Given the description of an element on the screen output the (x, y) to click on. 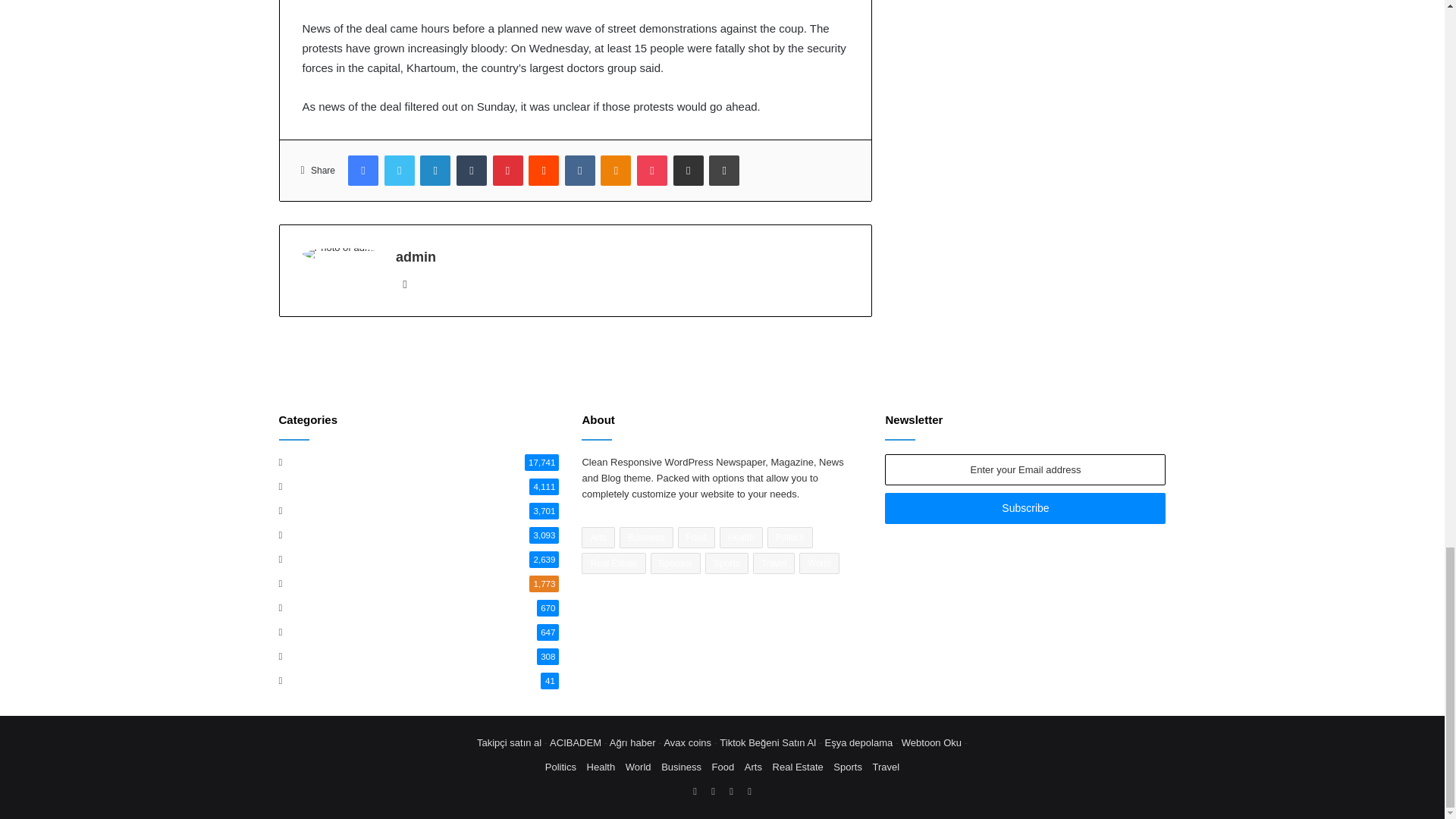
Subscribe (1025, 508)
